Given the description of an element on the screen output the (x, y) to click on. 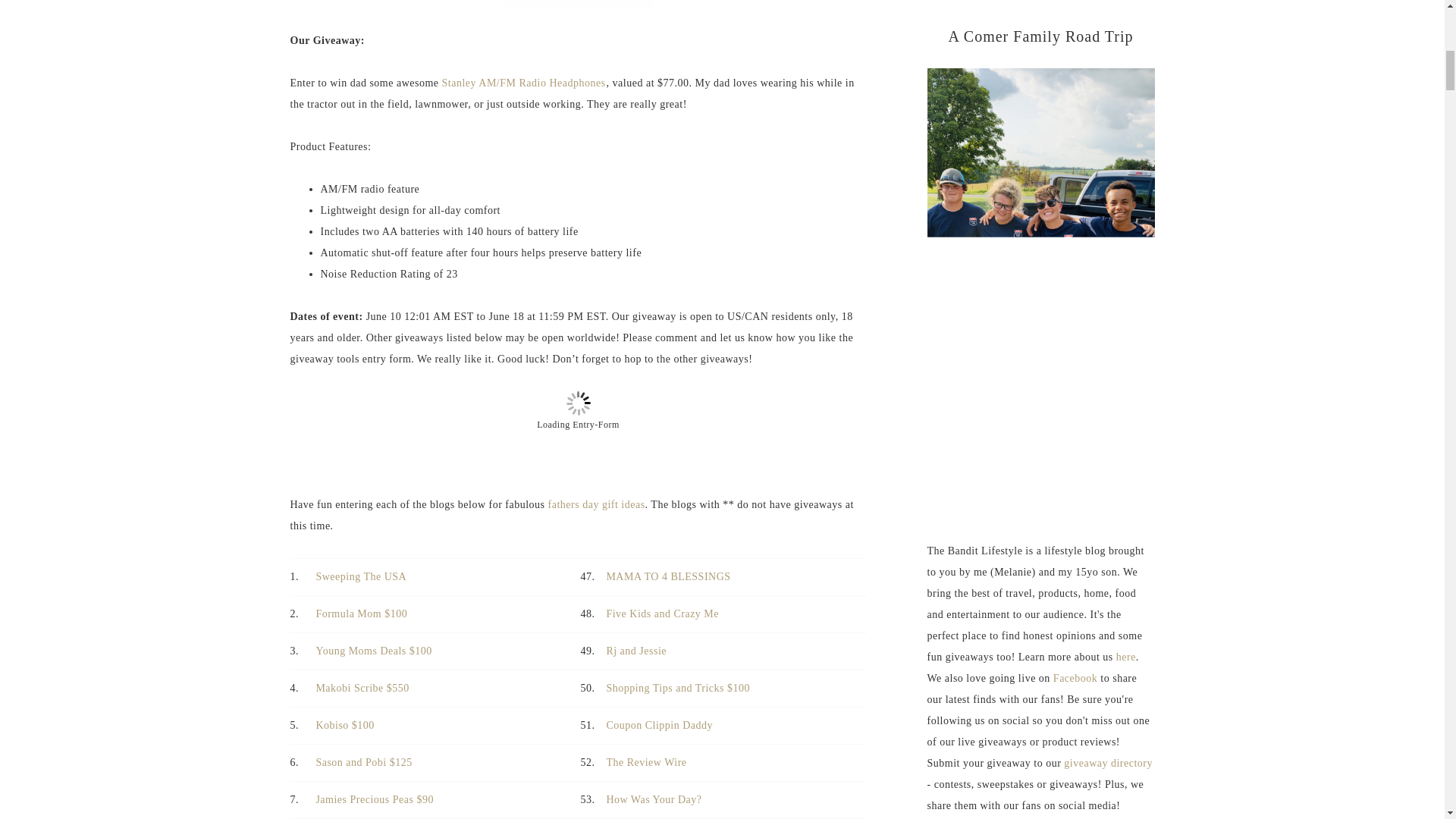
Sweeping The USA (360, 576)
MAMA TO 4 BLESSINGS (669, 576)
fathers day gift ideas (596, 504)
